Given the description of an element on the screen output the (x, y) to click on. 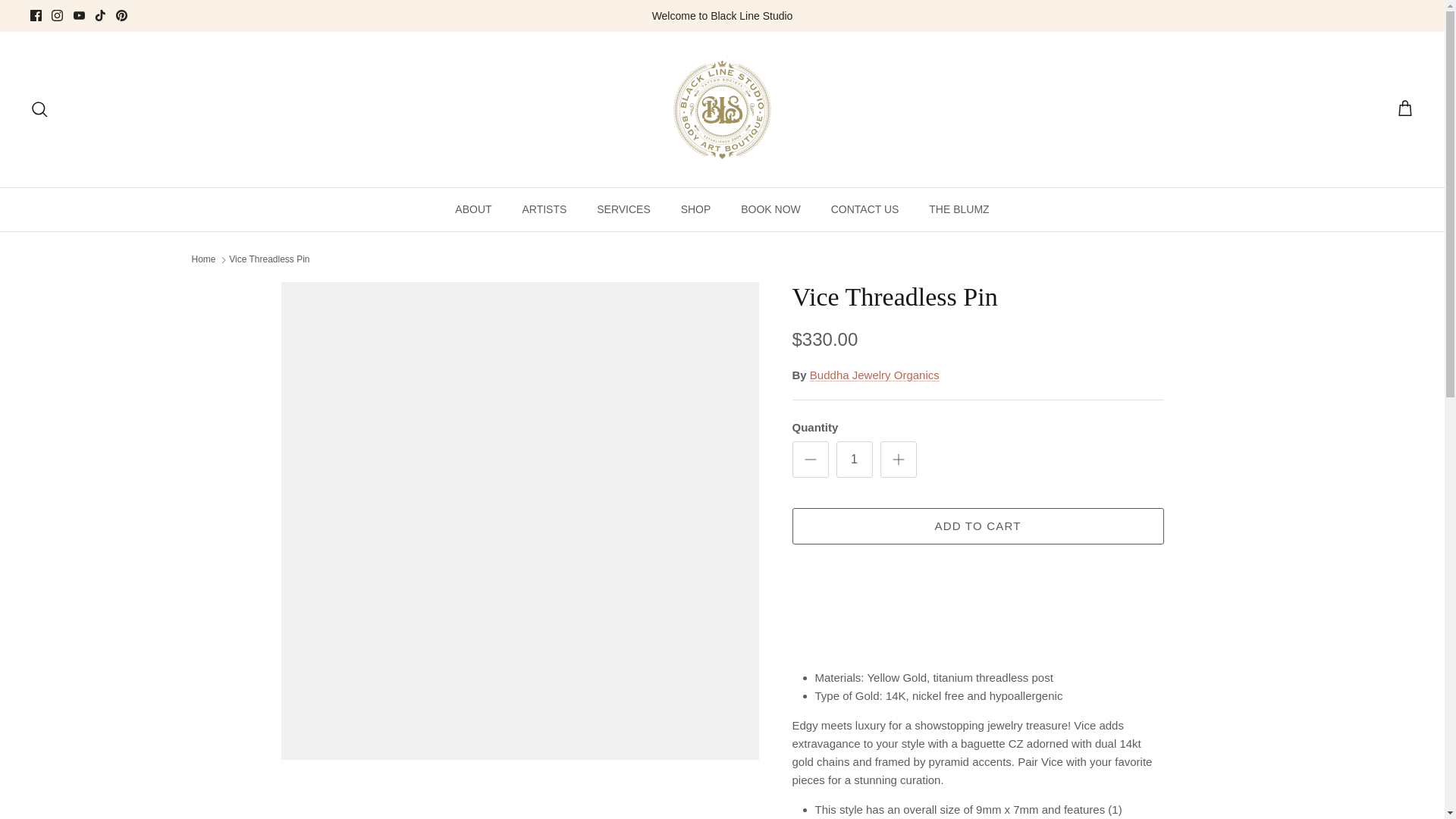
Youtube (79, 15)
Pinterest (122, 15)
Facebook (36, 15)
Youtube (79, 15)
Plus (897, 459)
ARTISTS (543, 209)
ABOUT (473, 209)
Minus (809, 459)
1 (853, 459)
Cart (1404, 108)
Instagram (56, 15)
Instagram (56, 15)
SERVICES (623, 209)
SHOP (695, 209)
Black Line Studio (722, 108)
